Given the description of an element on the screen output the (x, y) to click on. 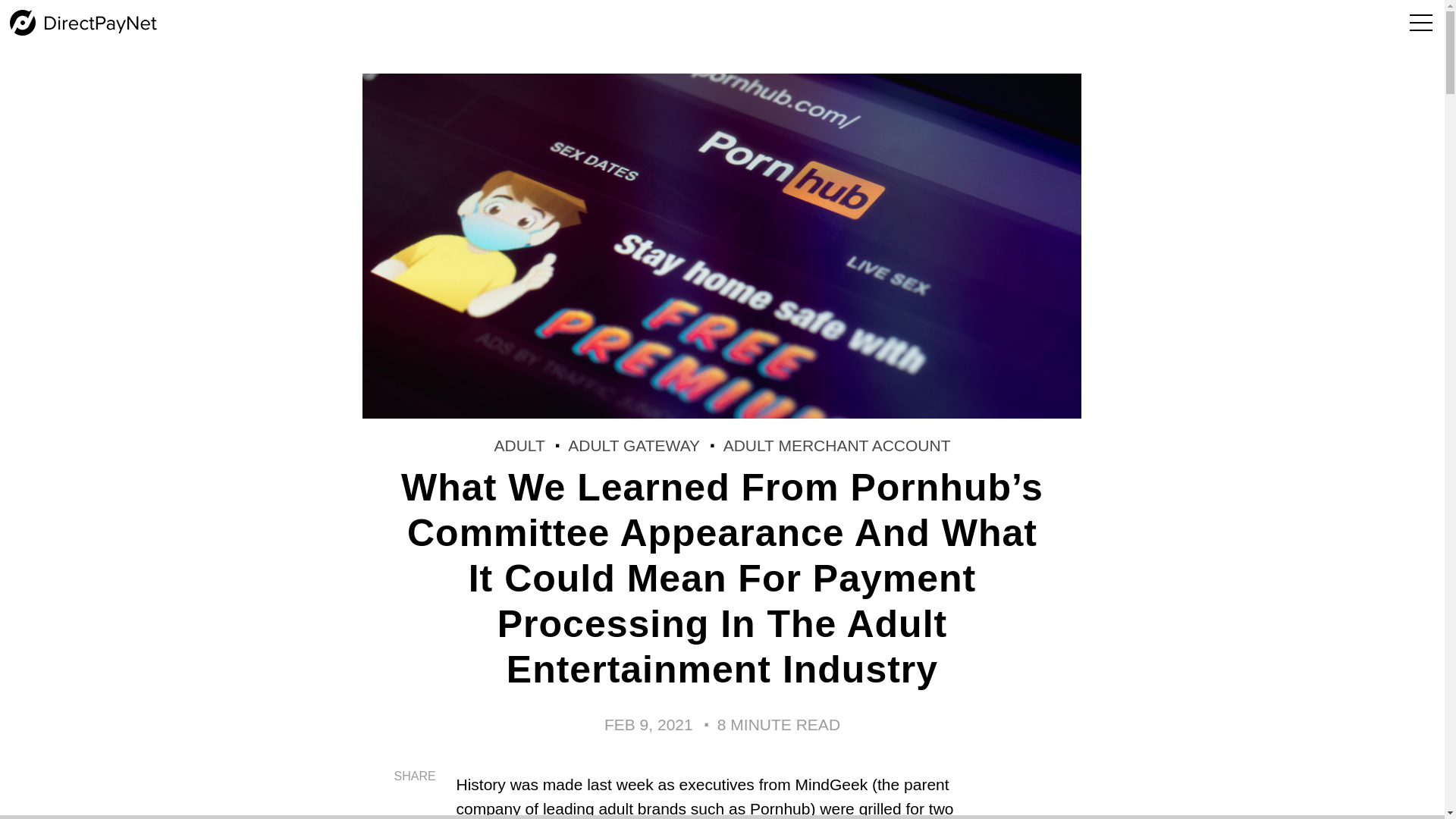
ADULT GATEWAY (633, 445)
ADULT (518, 445)
ADULT MERCHANT ACCOUNT (836, 445)
DirectPayNet (83, 22)
